Given the description of an element on the screen output the (x, y) to click on. 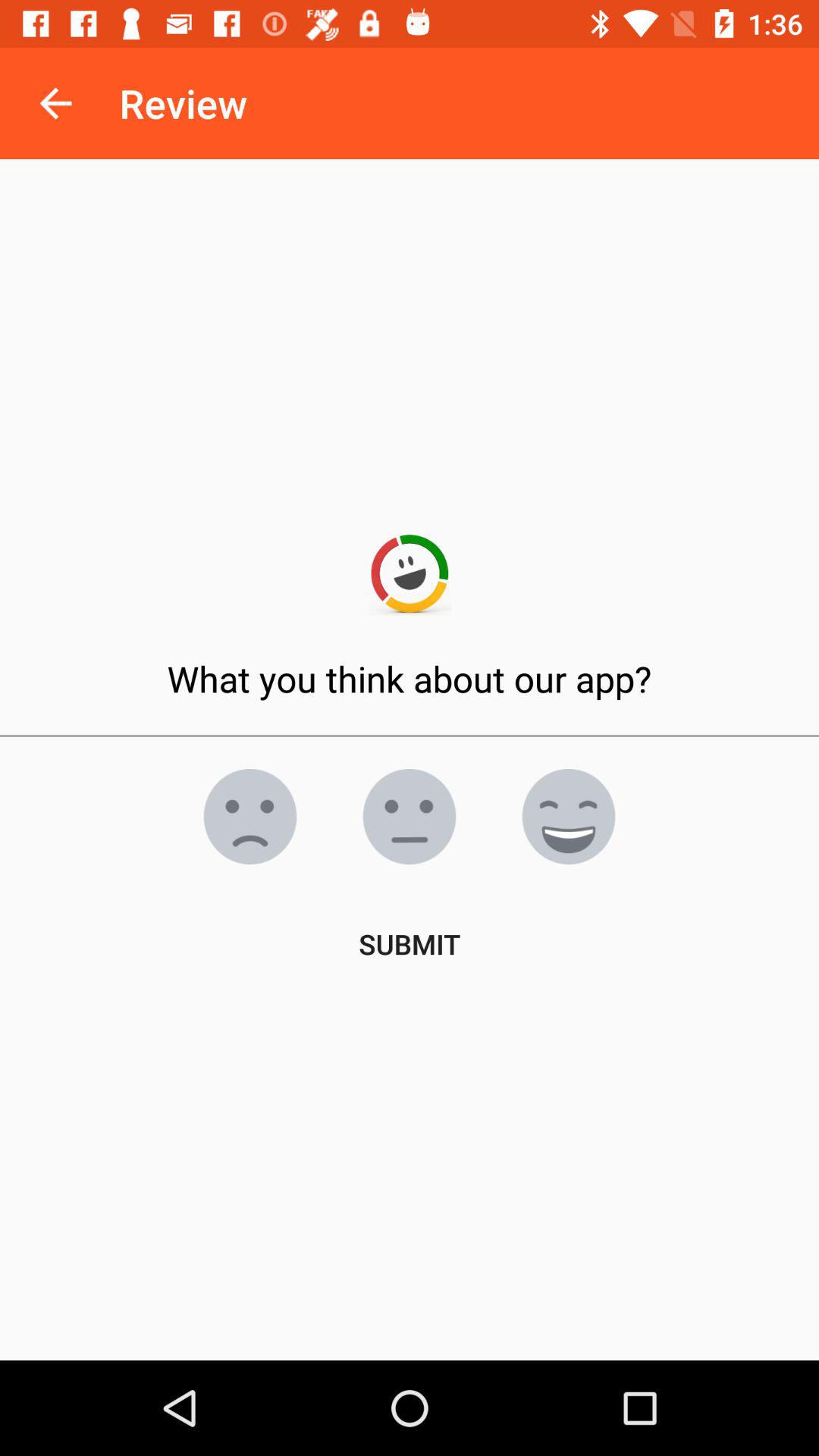
launch item above submit item (568, 816)
